Given the description of an element on the screen output the (x, y) to click on. 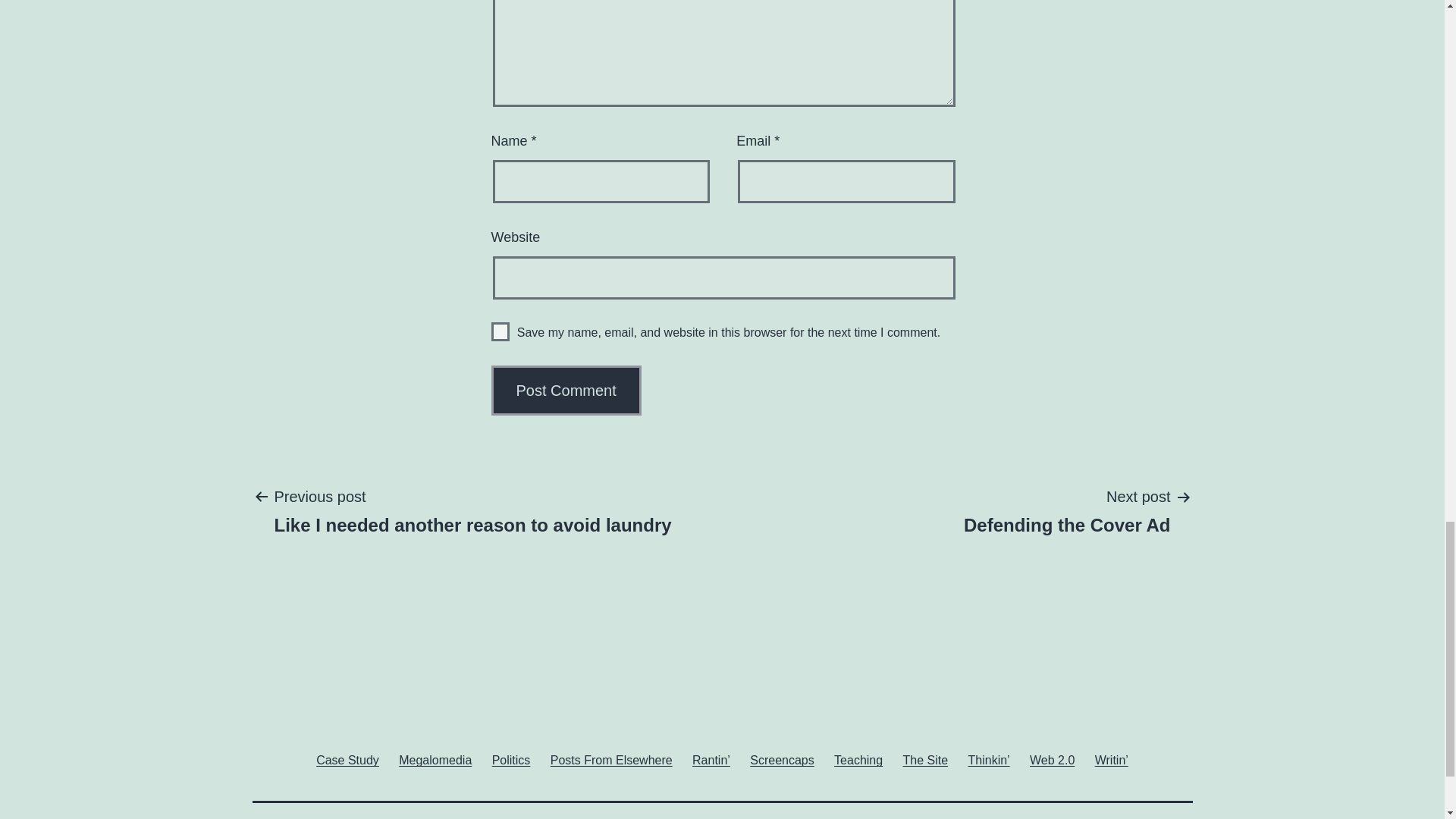
Case Study (346, 759)
Screencaps (781, 759)
Post Comment (567, 390)
Post Comment (567, 390)
yes (500, 331)
Web 2.0 (472, 510)
Posts From Elsewhere (1052, 759)
Megalomedia (611, 759)
Teaching (1067, 510)
The Site (434, 759)
Politics (858, 759)
